Given the description of an element on the screen output the (x, y) to click on. 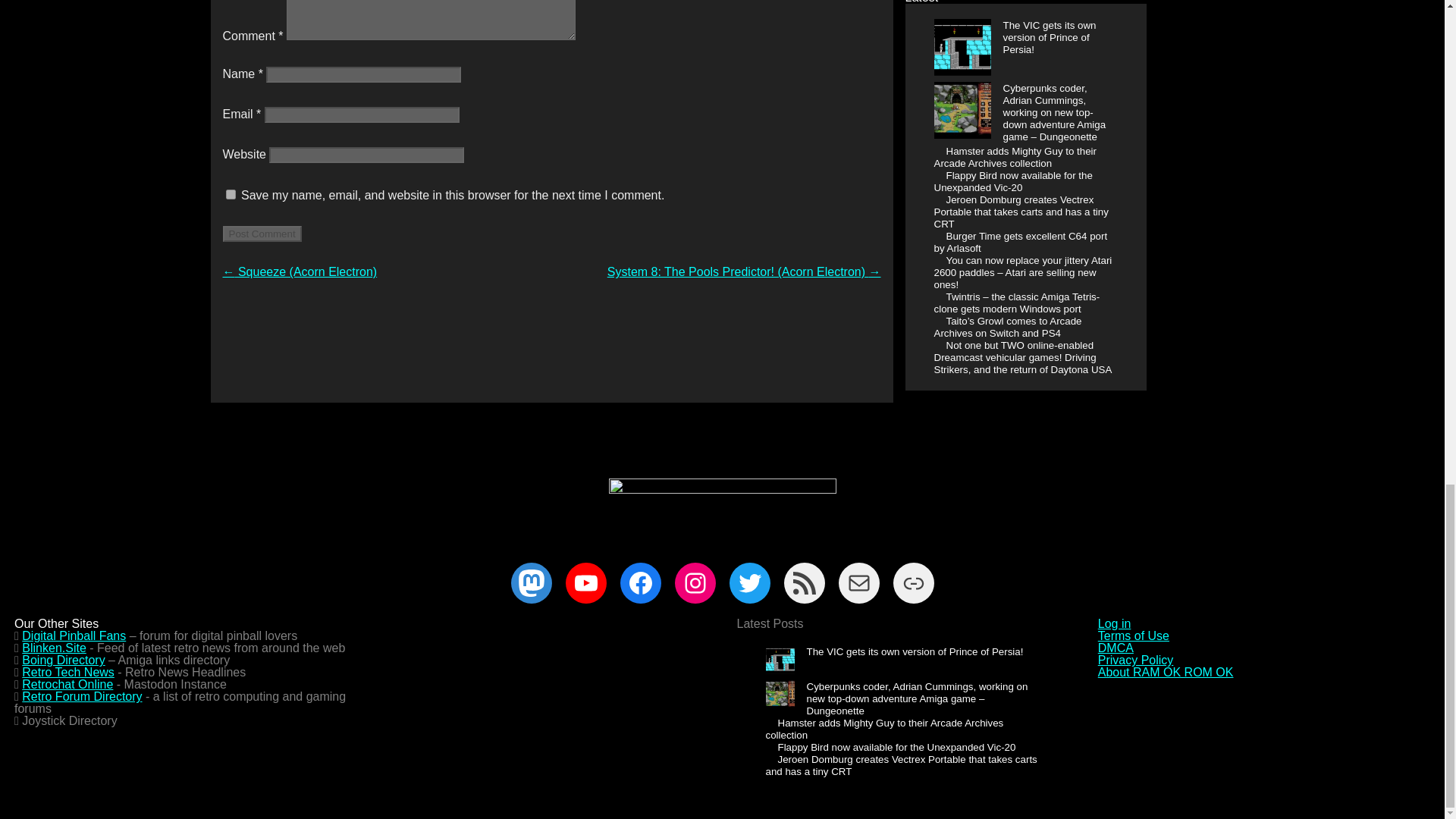
Post Comment (261, 233)
Post Comment (261, 233)
yes (230, 194)
